Given the description of an element on the screen output the (x, y) to click on. 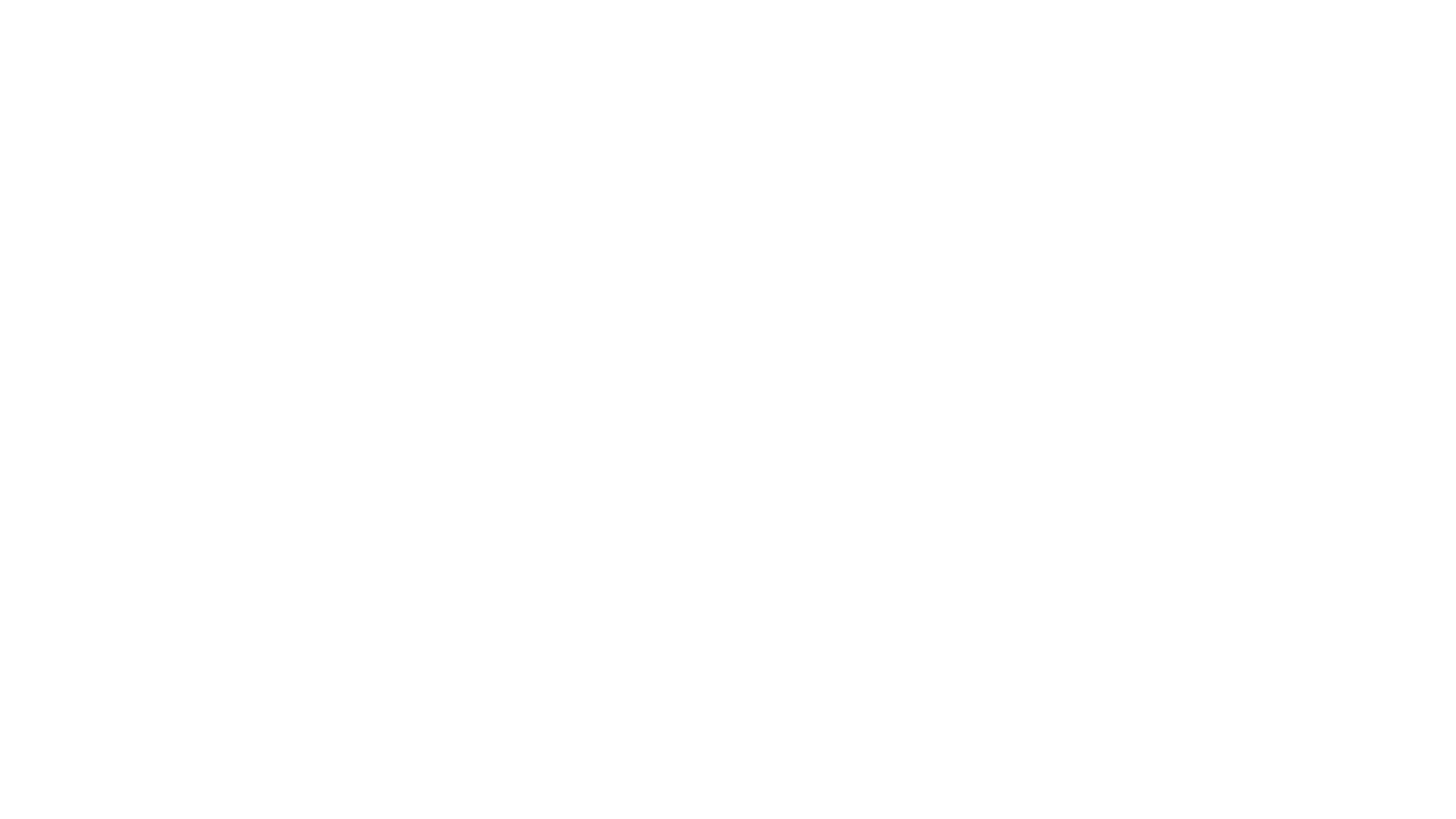
ACCUEIL Element type: text (361, 119)
info@voyagetranspersonnel.com Element type: text (872, 474)
